Given the description of an element on the screen output the (x, y) to click on. 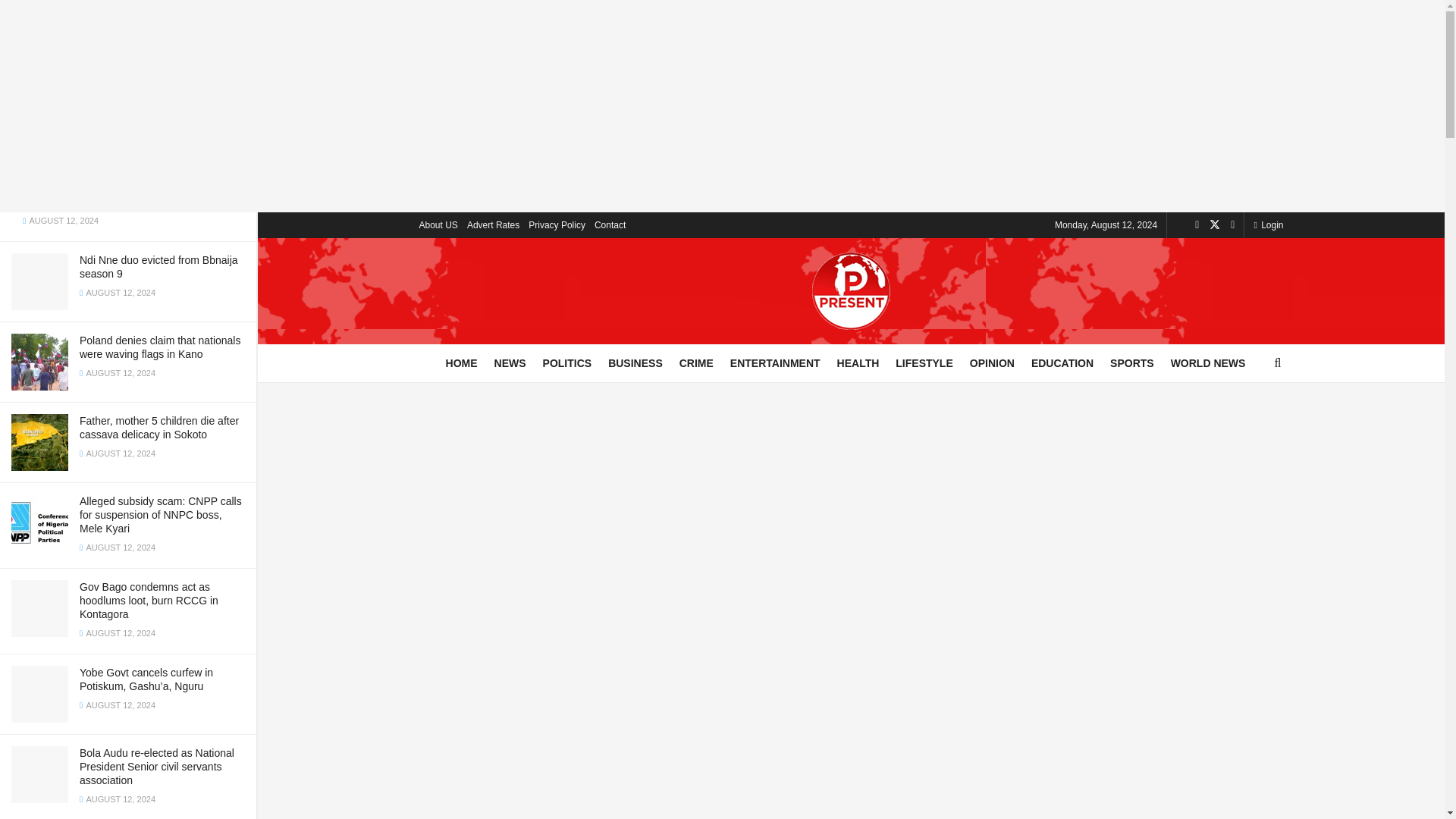
NEWS (510, 362)
LIFESTYLE (923, 362)
Contact (610, 225)
HEALTH (858, 362)
BUSINESS (635, 362)
Privacy Policy (556, 225)
POLITICS (567, 362)
ENTERTAINMENT (775, 362)
